Given the description of an element on the screen output the (x, y) to click on. 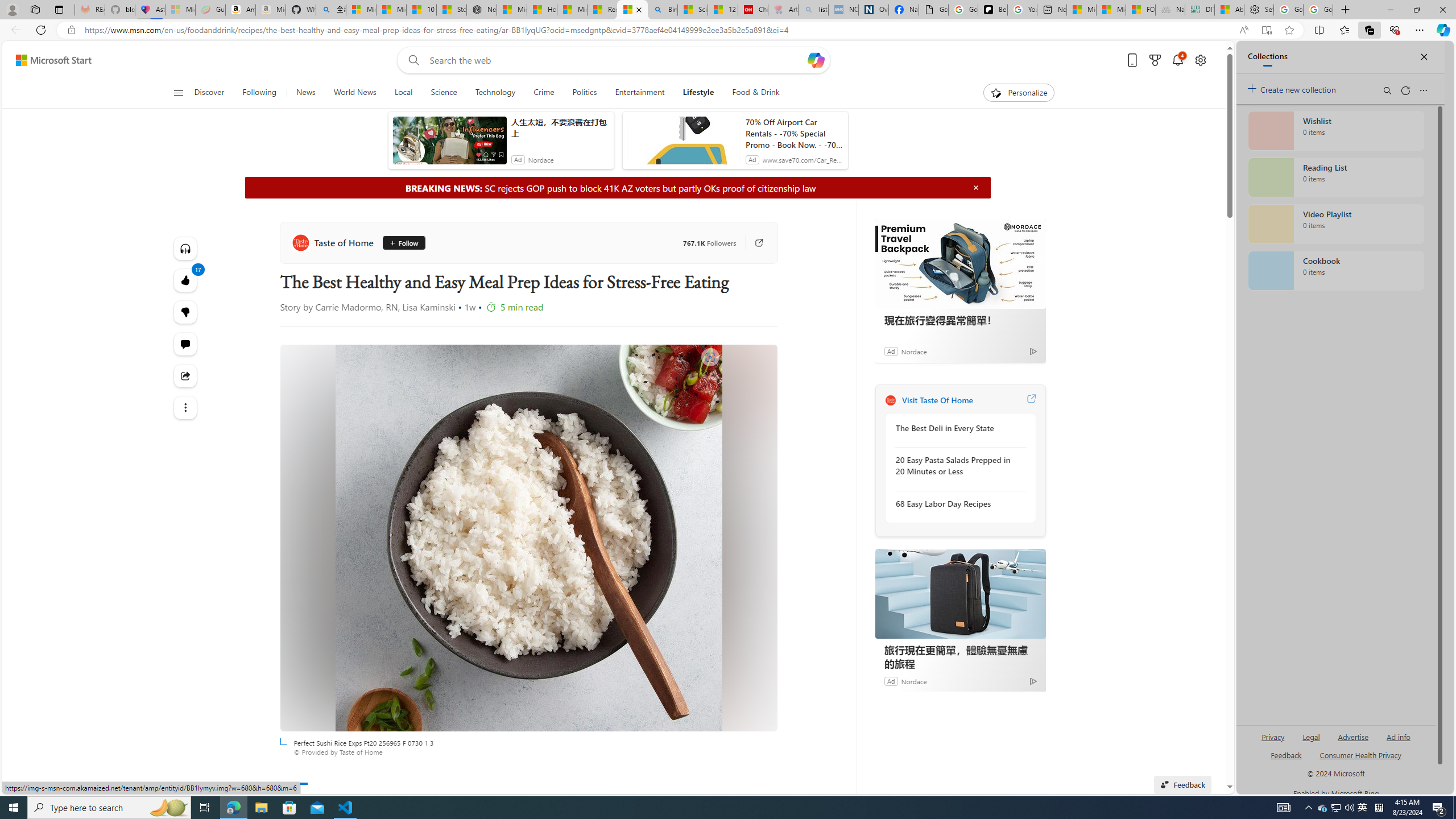
www.save70.com/Car_Rentals/2024_New_Deals (802, 159)
Crime (543, 92)
Taste of Home (889, 399)
Taste of Home (334, 242)
Enter Immersive Reader (F9) (1266, 29)
Perfect Sushi Rice Exps Ft20 256965 F 0730 1 3 (528, 537)
To get missing image descriptions, open the context menu. (995, 92)
Food & Drink (756, 92)
